Given the description of an element on the screen output the (x, y) to click on. 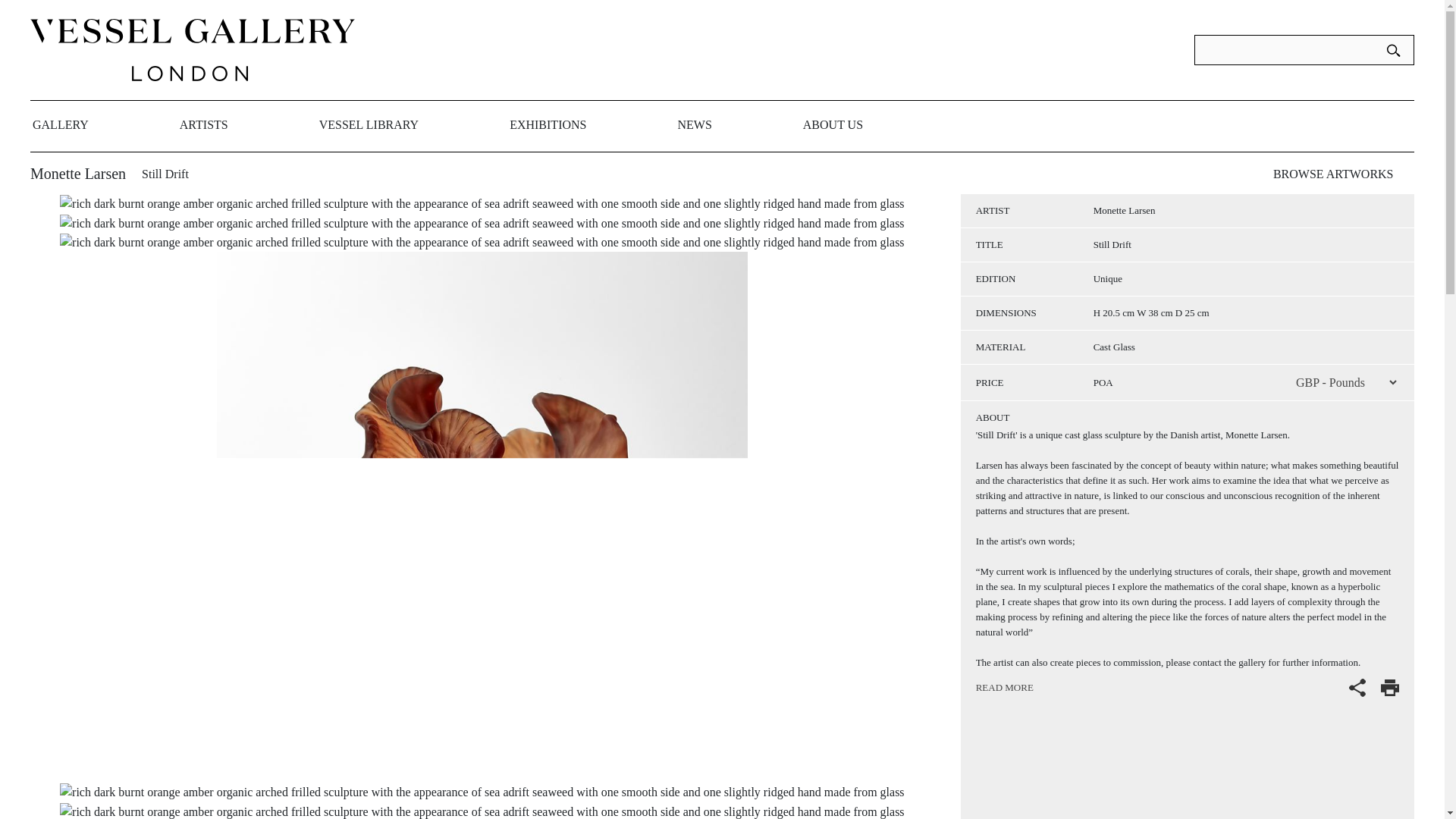
EXHIBITIONS (547, 124)
NEWS (694, 124)
ABOUT US (833, 124)
BROWSE ARTWORKS (1332, 174)
ARTISTS (203, 124)
Monette Larsen (1124, 210)
Monette Larsen (77, 173)
READ MORE (1004, 687)
GALLERY (60, 124)
VESSEL LIBRARY (368, 124)
